Given the description of an element on the screen output the (x, y) to click on. 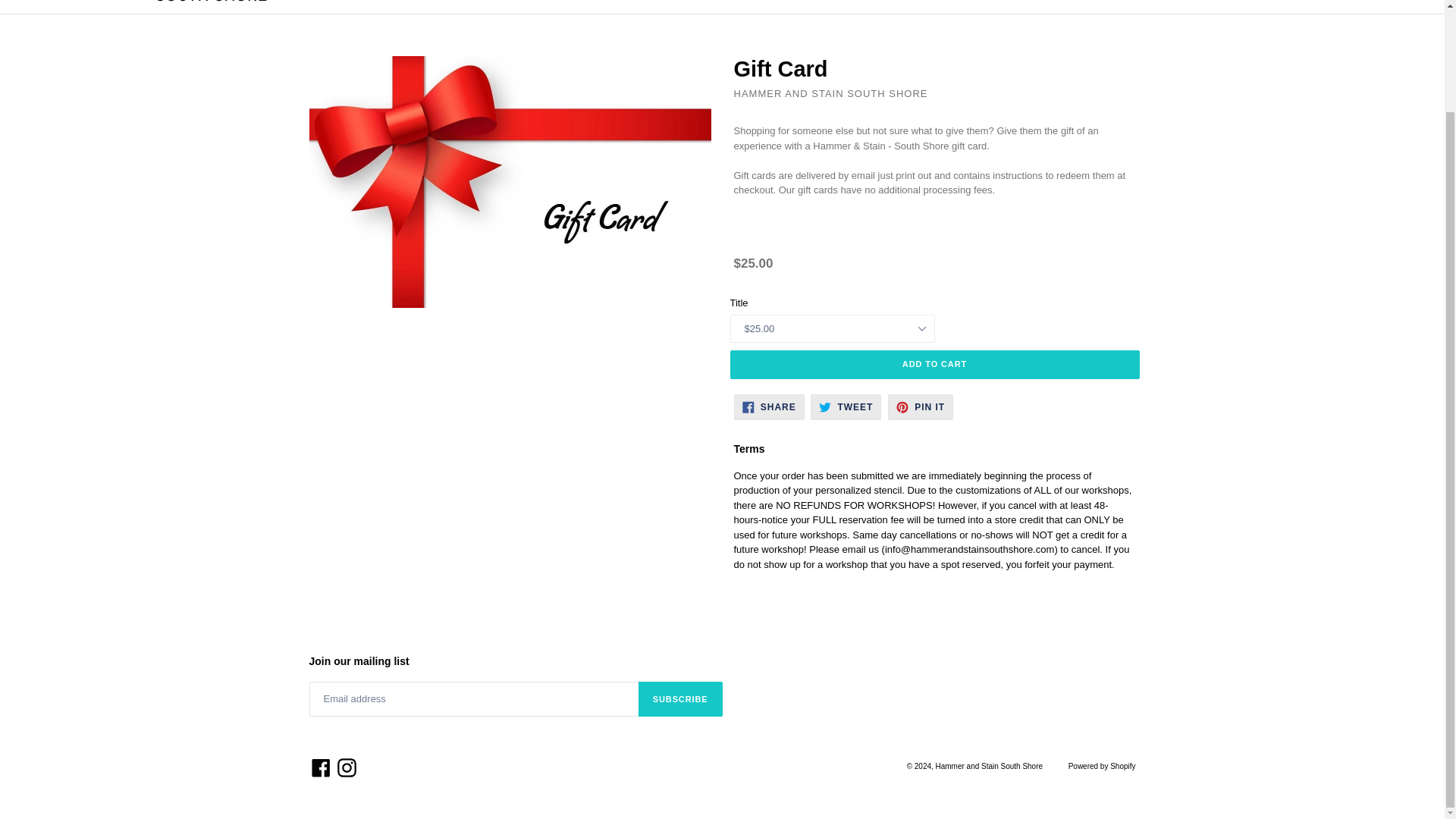
Tweet on Twitter (845, 406)
ADD TO CART (933, 364)
Share on Facebook (769, 406)
Instagram (769, 406)
Pin on Pinterest (845, 406)
Hammer and Stain South Shore (920, 406)
Hammer and Stain South Shore on Instagram (346, 767)
Powered by Shopify (920, 406)
SUBSCRIBE (989, 766)
Facebook (346, 767)
Hammer and Stain South Shore on Facebook (1101, 766)
